Given the description of an element on the screen output the (x, y) to click on. 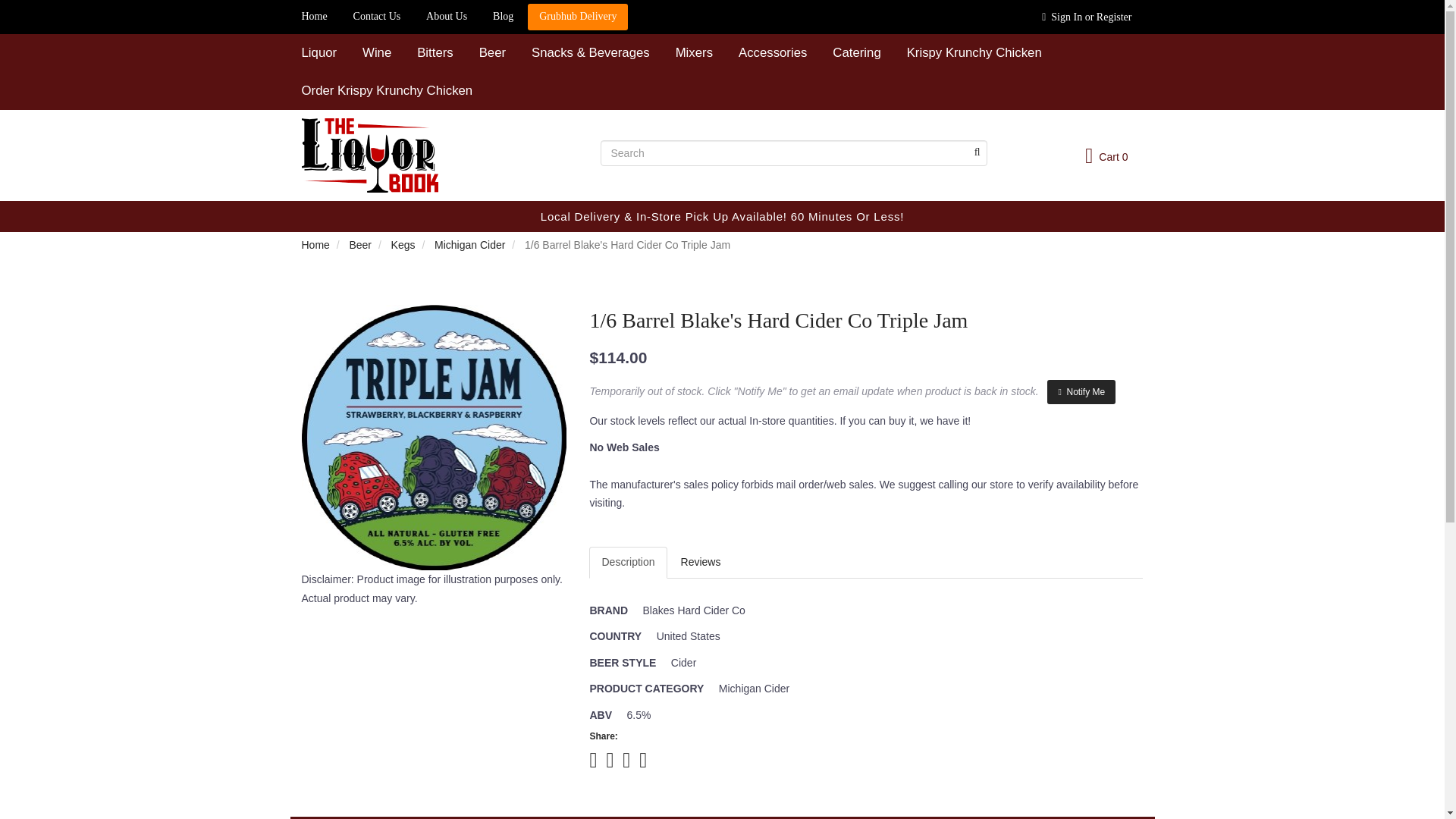
Home (313, 17)
  Sign In or Register (1086, 17)
Grubhub Delivery (577, 17)
About Us (446, 17)
Contact Us (377, 17)
Go (975, 153)
Blog (502, 17)
